Given the description of an element on the screen output the (x, y) to click on. 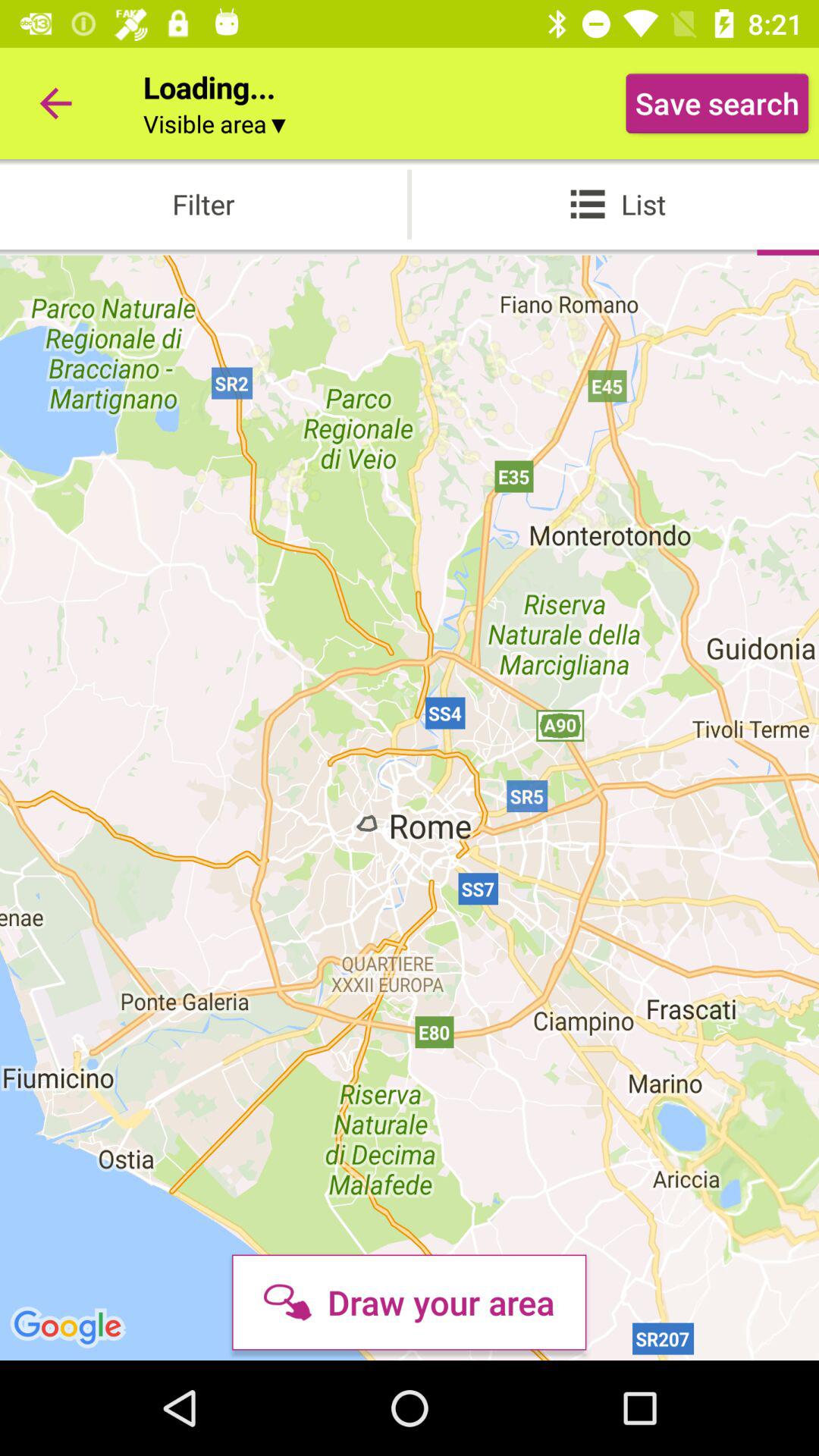
flip until draw your area icon (409, 1302)
